Given the description of an element on the screen output the (x, y) to click on. 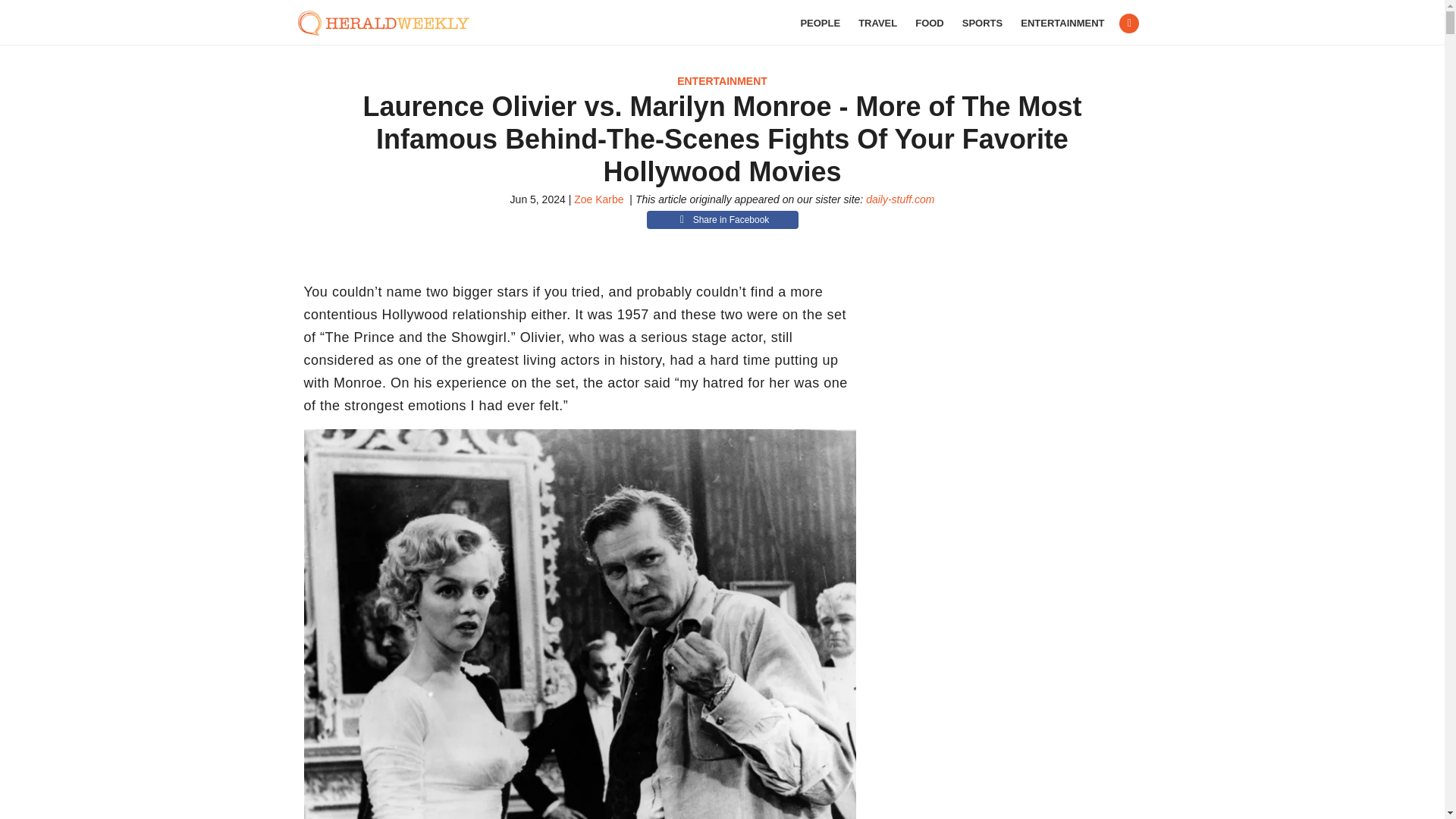
Herald Weekly (391, 22)
daily-stuff.com (900, 199)
SPORTS (982, 23)
ENTERTAINMENT (722, 80)
Share in Facebook (721, 219)
PEOPLE (819, 23)
Zoe Karbe (598, 199)
Facebook (1128, 23)
ENTERTAINMENT (1061, 23)
TRAVEL (877, 23)
